Given the description of an element on the screen output the (x, y) to click on. 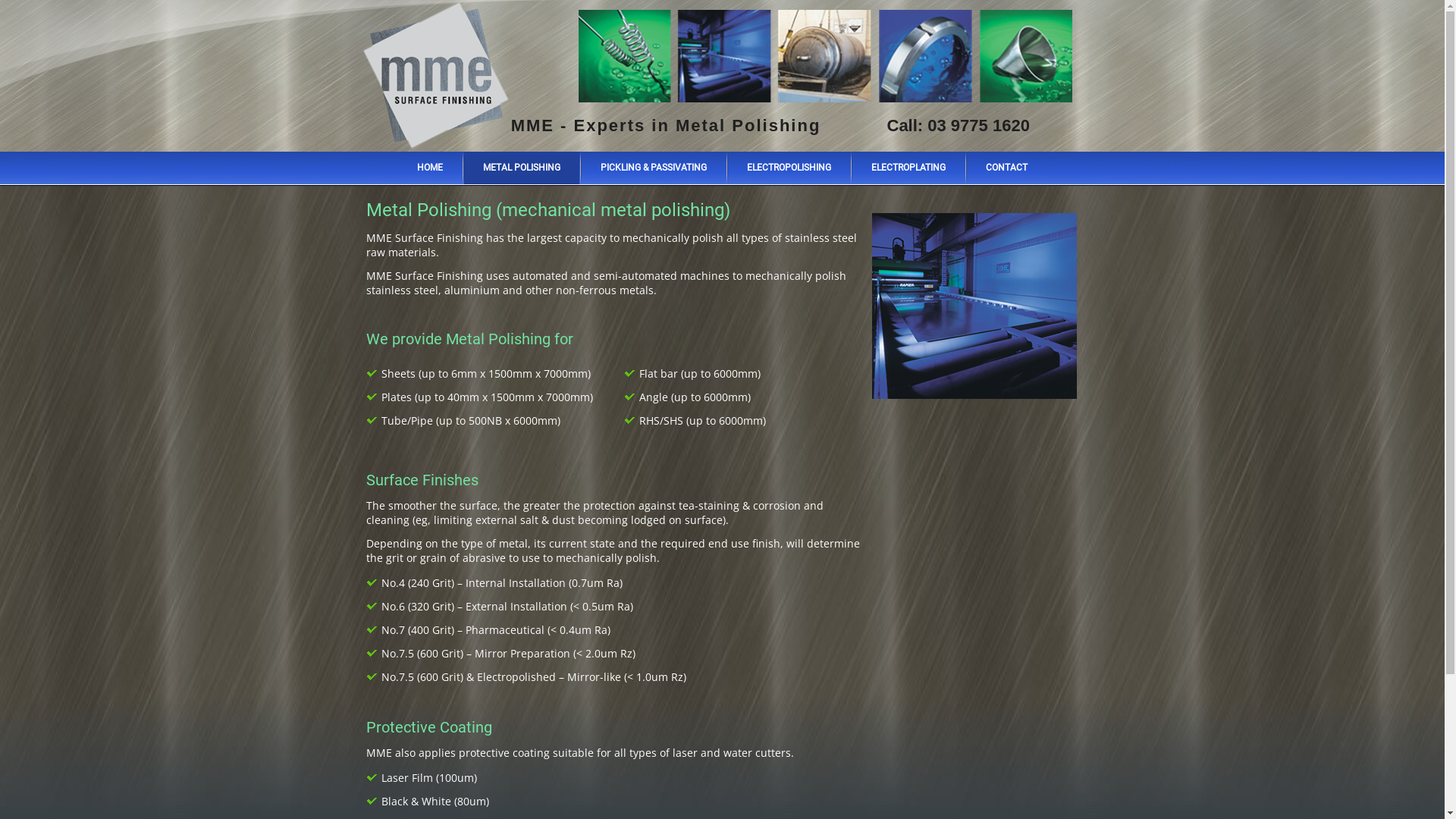
ELECTROPLATING Element type: text (908, 167)
HOME Element type: text (429, 167)
PICKLING & PASSIVATING Element type: text (653, 167)
ELECTROPOLISHING Element type: text (789, 167)
CONTACT Element type: text (1006, 167)
METAL POLISHING Element type: text (521, 167)
